Given the description of an element on the screen output the (x, y) to click on. 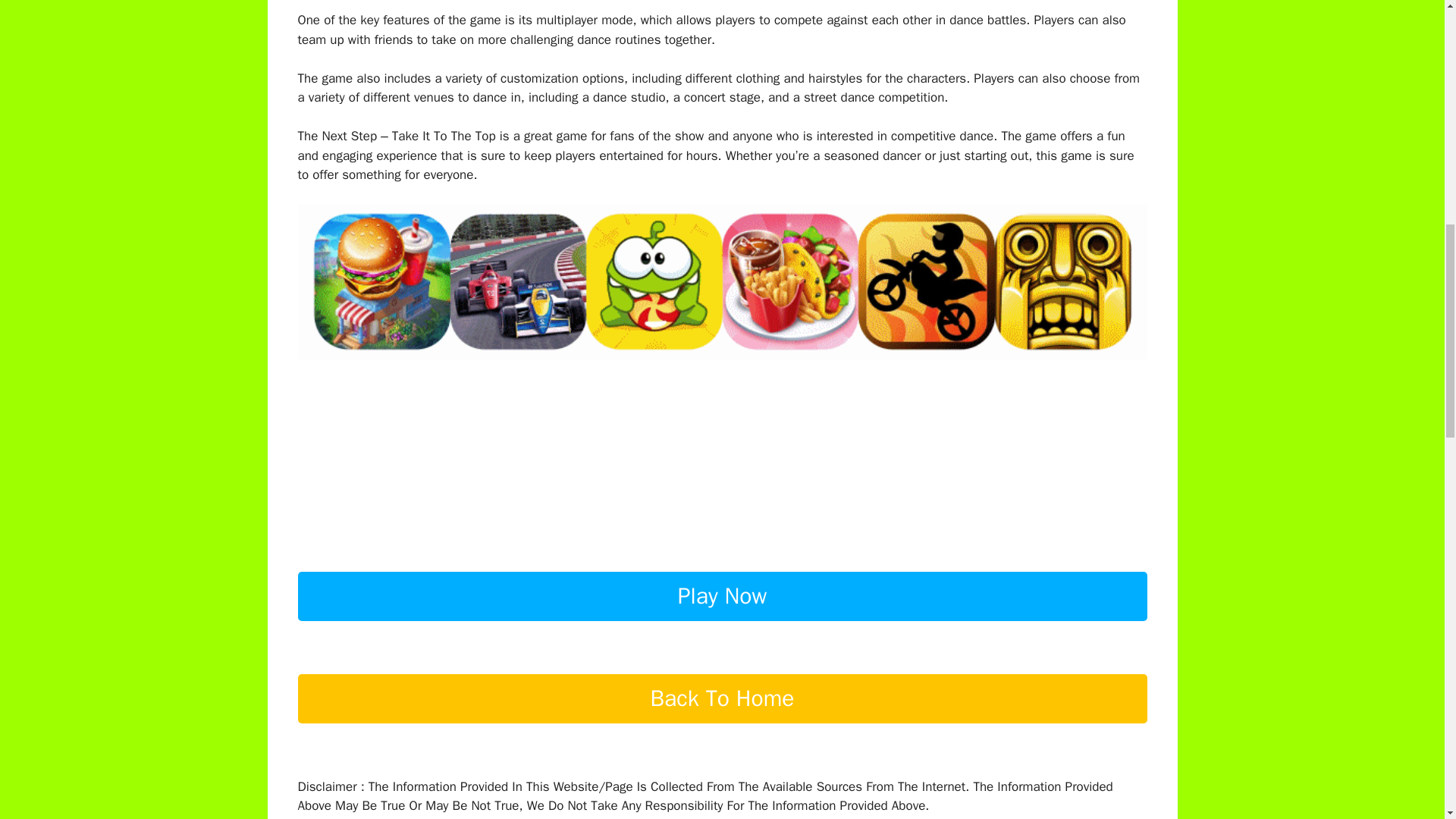
Play Now (722, 621)
Back To Home (722, 724)
